Given the description of an element on the screen output the (x, y) to click on. 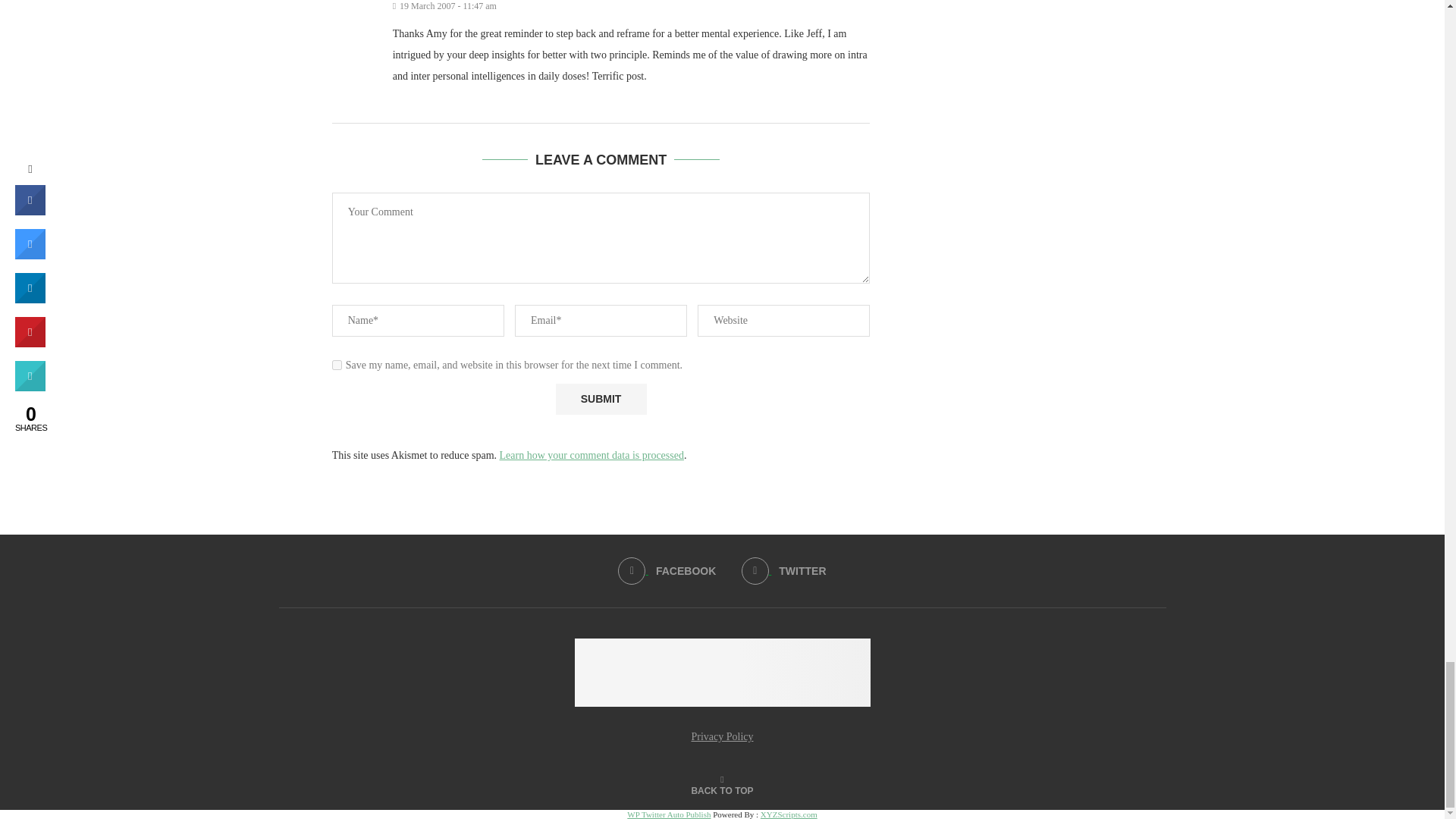
yes (336, 365)
Submit (601, 399)
